Given the description of an element on the screen output the (x, y) to click on. 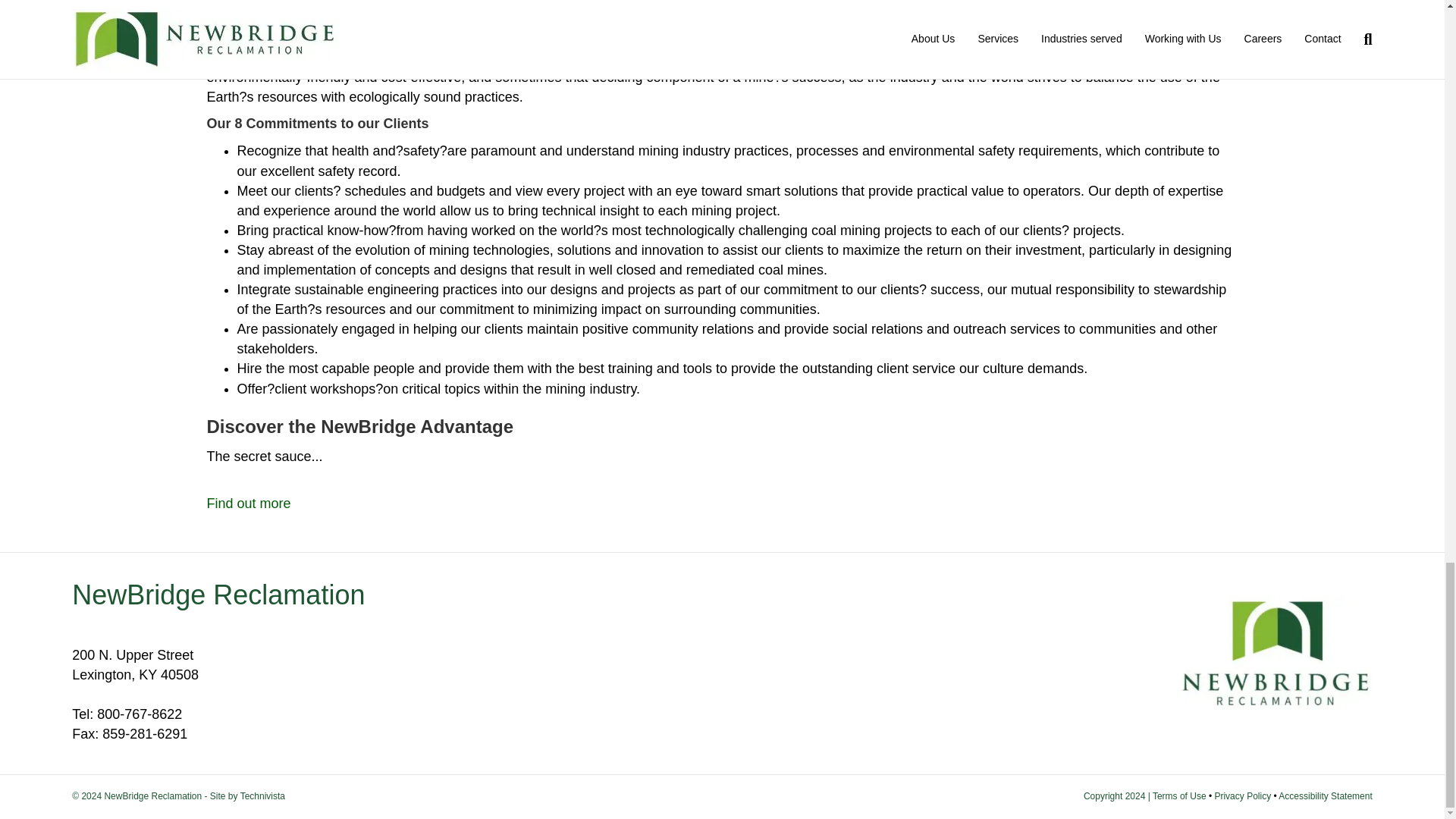
Find out more (247, 513)
Site by Technivista (247, 796)
Privacy Policy (1242, 796)
Accessibility Statement (1324, 796)
